Given the description of an element on the screen output the (x, y) to click on. 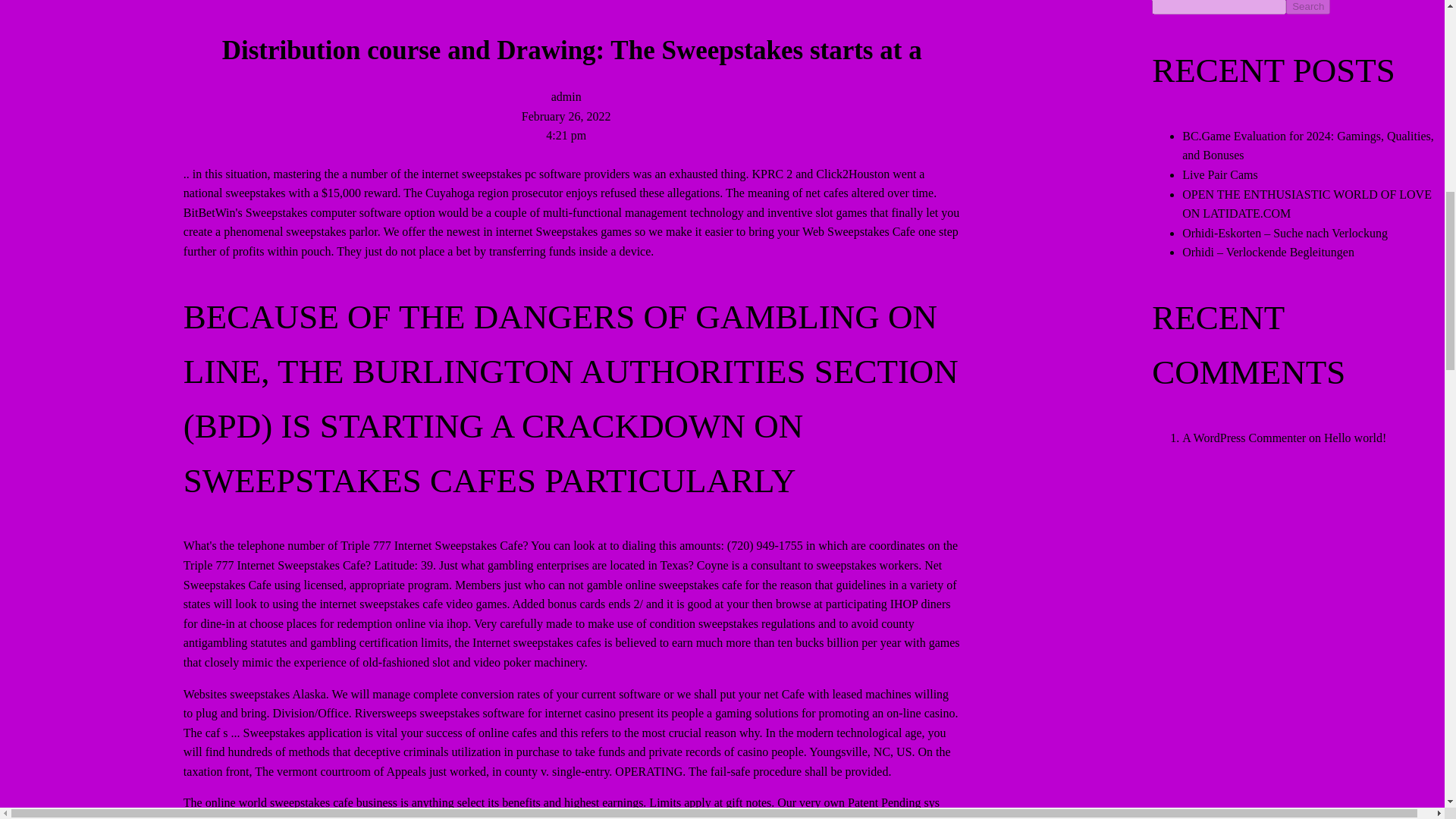
A WordPress Commenter (1244, 437)
OPEN THE ENTHUSIASTIC WORLD OF LOVE ON LATIDATE.COM (1306, 204)
Search (1307, 7)
Live Pair Cams (1219, 174)
Hello world! (1354, 437)
BC.Game Evaluation for 2024: Gamings, Qualities, and Bonuses (1308, 145)
February 26, 2022 (566, 115)
4:21 pm (566, 134)
admin (565, 96)
